Given the description of an element on the screen output the (x, y) to click on. 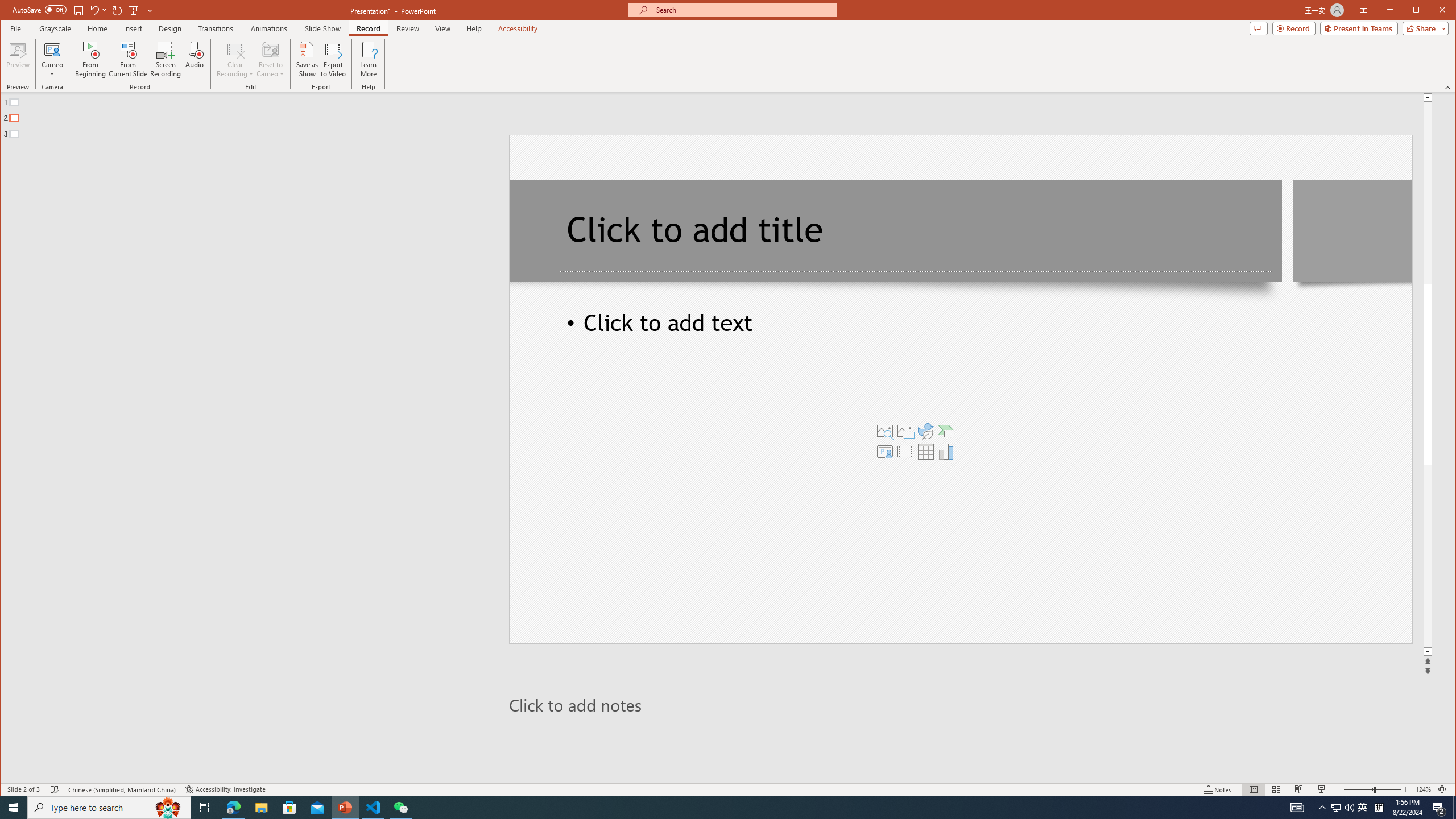
Learn More (368, 59)
Insert an Icon (925, 430)
Screen Recording (165, 59)
Stock Images (884, 430)
Audio (194, 59)
Clear Recording (234, 59)
Action Center, 2 new notifications (1439, 807)
